Given the description of an element on the screen output the (x, y) to click on. 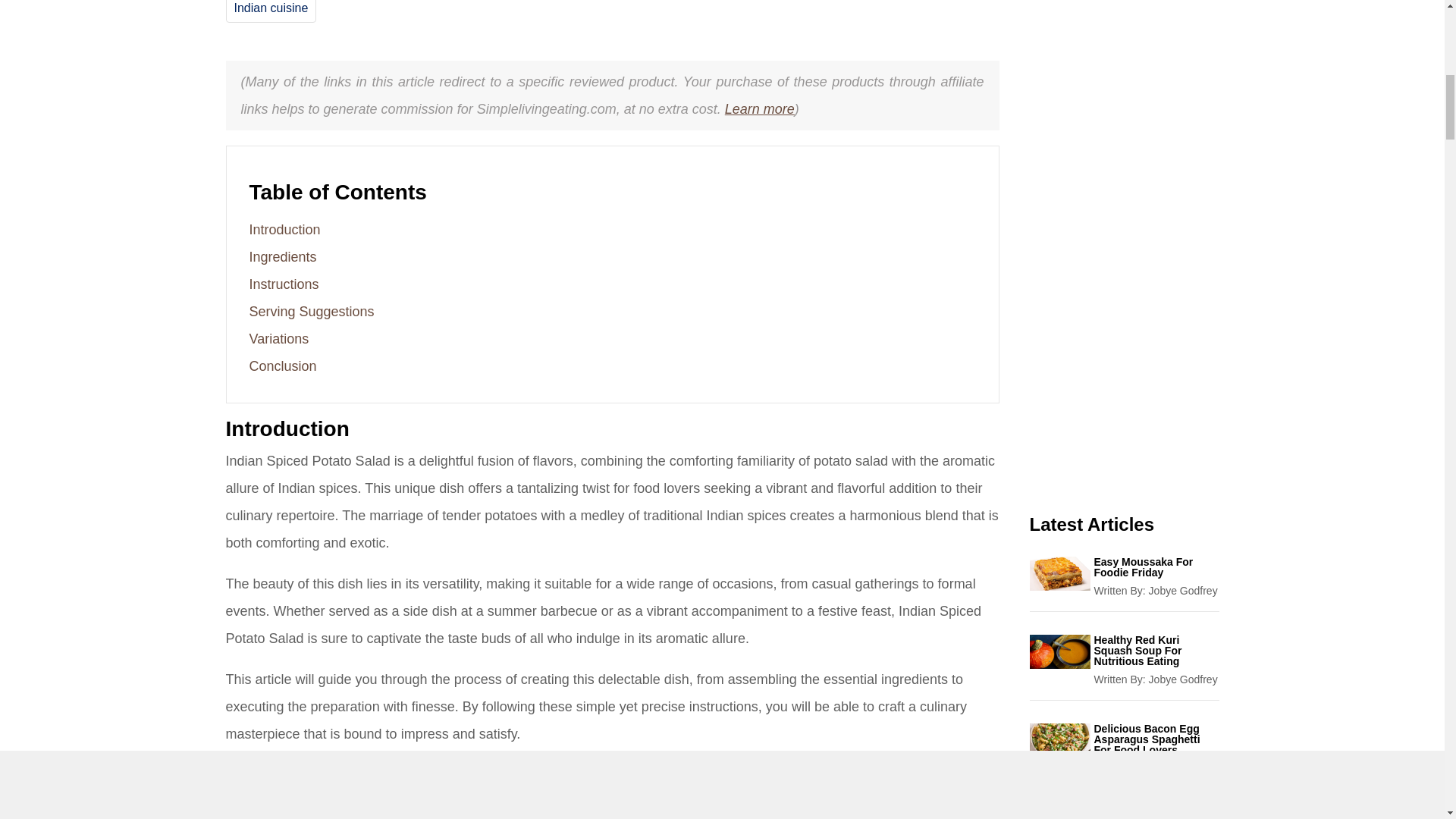
Introduction (284, 229)
Serving Suggestions (311, 311)
Learn more (759, 109)
Variations (278, 338)
Instructions (283, 283)
Ingredients (281, 256)
Easy Moussaka For Foodie Friday (1155, 567)
Indian cuisine (269, 7)
Conclusion (281, 365)
